Given the description of an element on the screen output the (x, y) to click on. 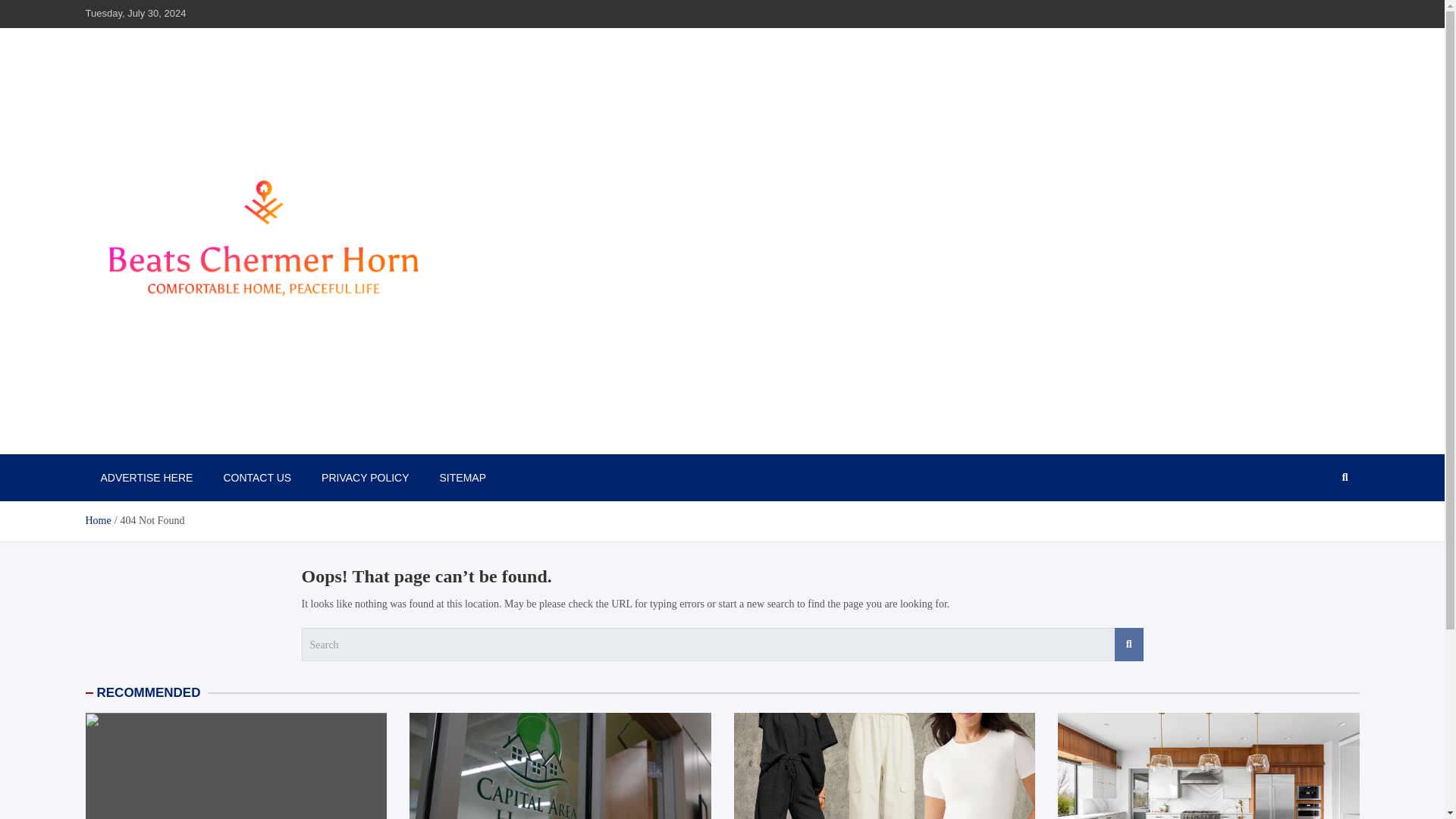
SITEMAP (462, 477)
RECOMMENDED (148, 692)
Home (97, 520)
CONTACT US (256, 477)
Beats Chermer Horn (193, 437)
ADVERTISE HERE (146, 477)
PRIVACY POLICY (364, 477)
